Given the description of an element on the screen output the (x, y) to click on. 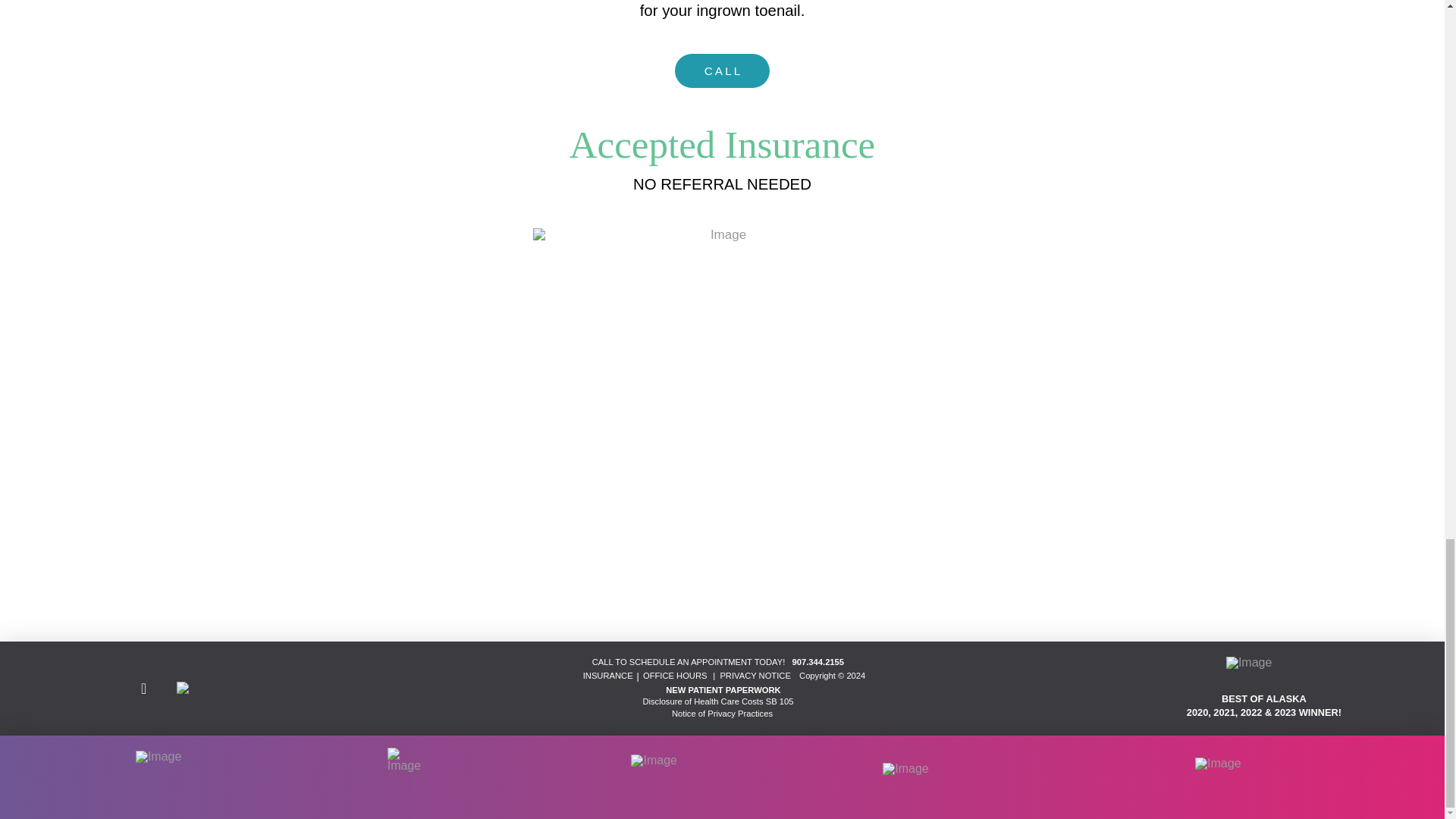
CALL (722, 70)
PRIVACY NOTICE (754, 675)
NEW PATIENT PAPERWORK (722, 689)
Disclosure of Health Care Costs SB 105 (717, 700)
907.344.2155 (816, 661)
Notice of Privacy Practices (722, 713)
